Given the description of an element on the screen output the (x, y) to click on. 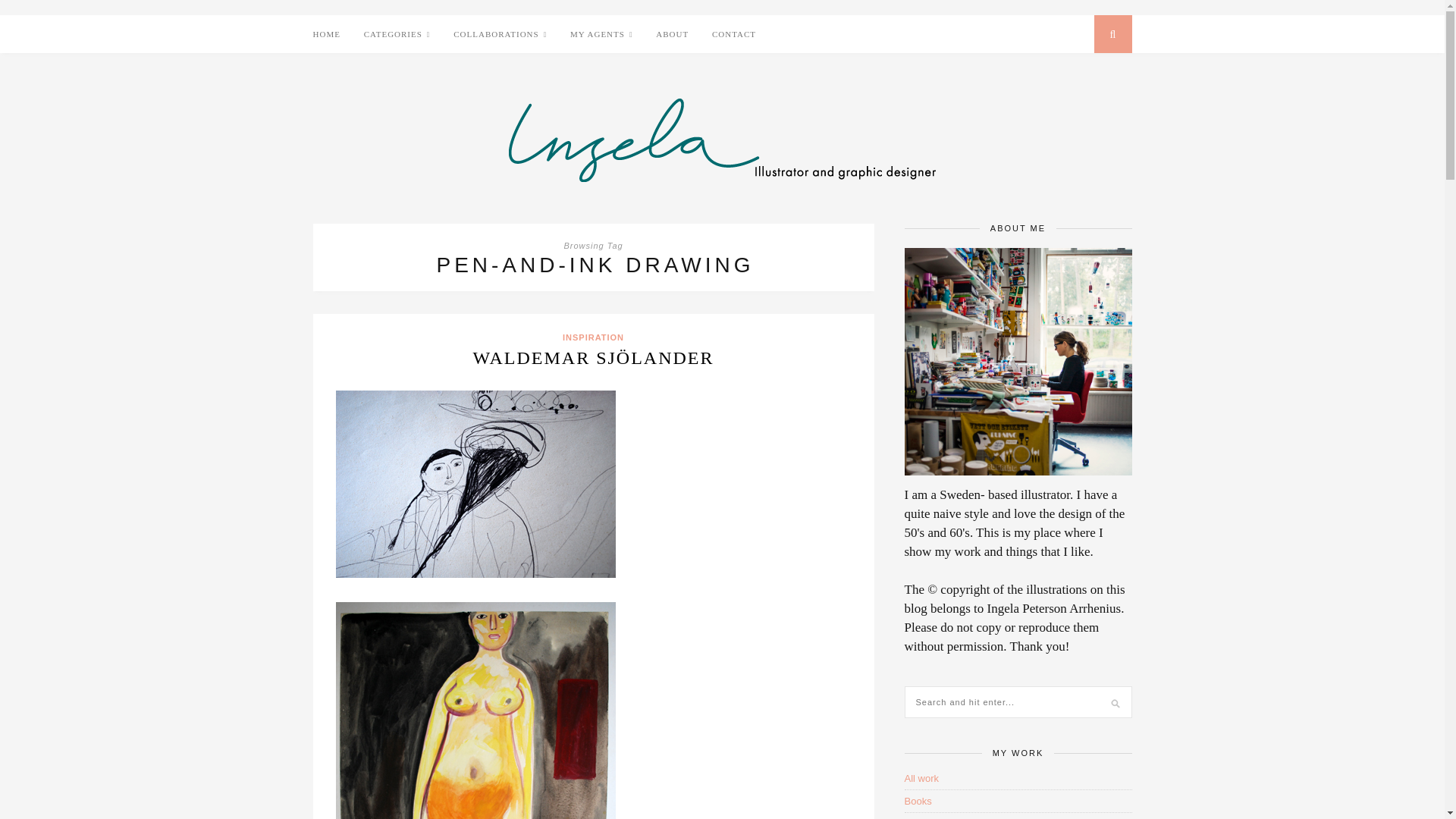
MY AGENTS (601, 34)
COLLABORATIONS (499, 34)
w2 (474, 710)
ABOUT (672, 34)
HOME (326, 34)
CONTACT (733, 34)
CATEGORIES (397, 34)
w1 (474, 484)
